Given the description of an element on the screen output the (x, y) to click on. 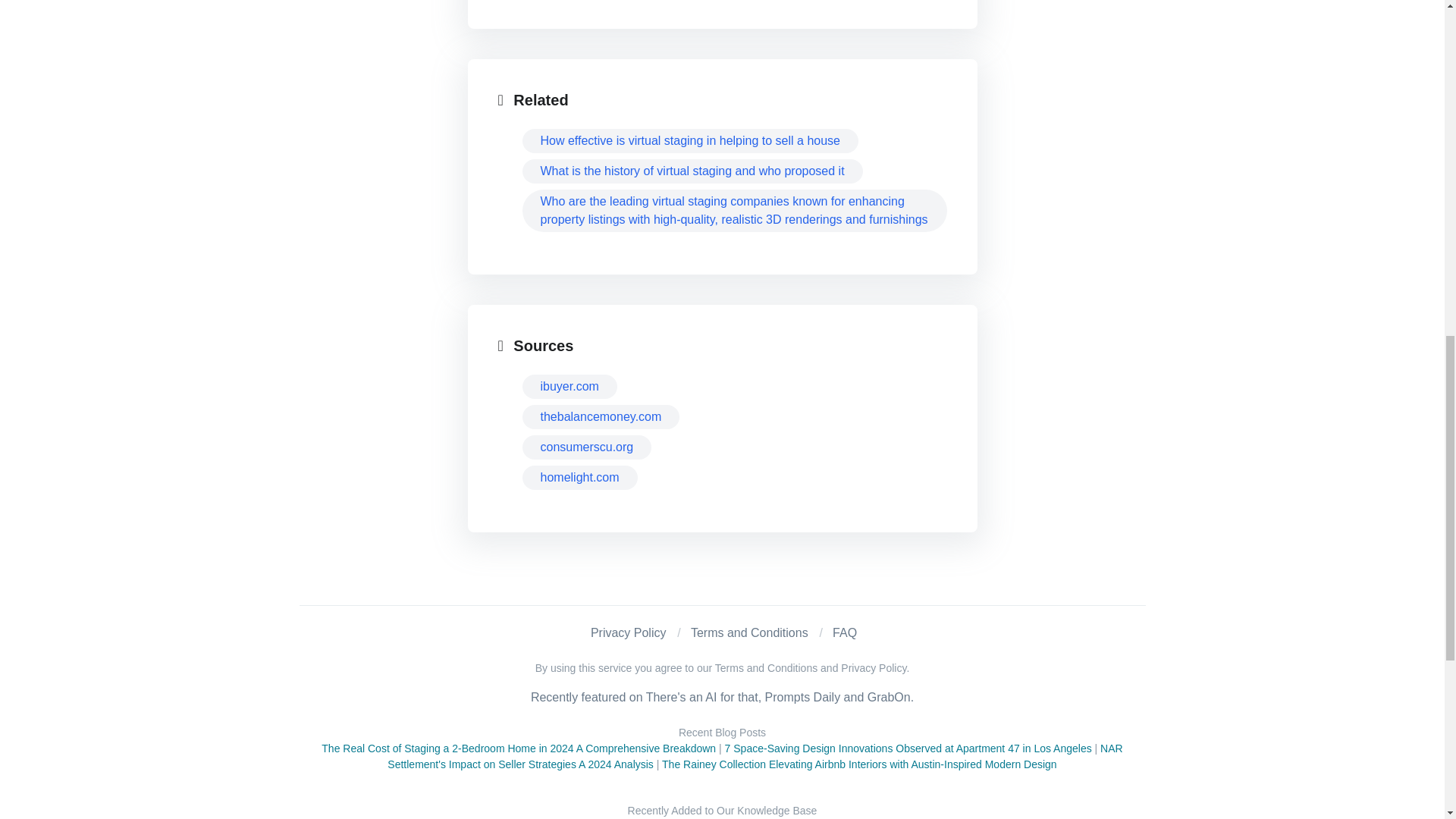
thebalancemoney.com (600, 416)
What is the history of virtual staging and who proposed it (691, 170)
Terms and Conditions (749, 632)
How effective is virtual staging in helping to sell a house (689, 140)
Privacy Policy (628, 632)
homelight.com (579, 477)
consumerscu.org (585, 446)
FAQ (844, 632)
ibuyer.com (568, 386)
NAR Settlement's Impact on Seller Strategies A 2024 Analysis (754, 756)
